Given the description of an element on the screen output the (x, y) to click on. 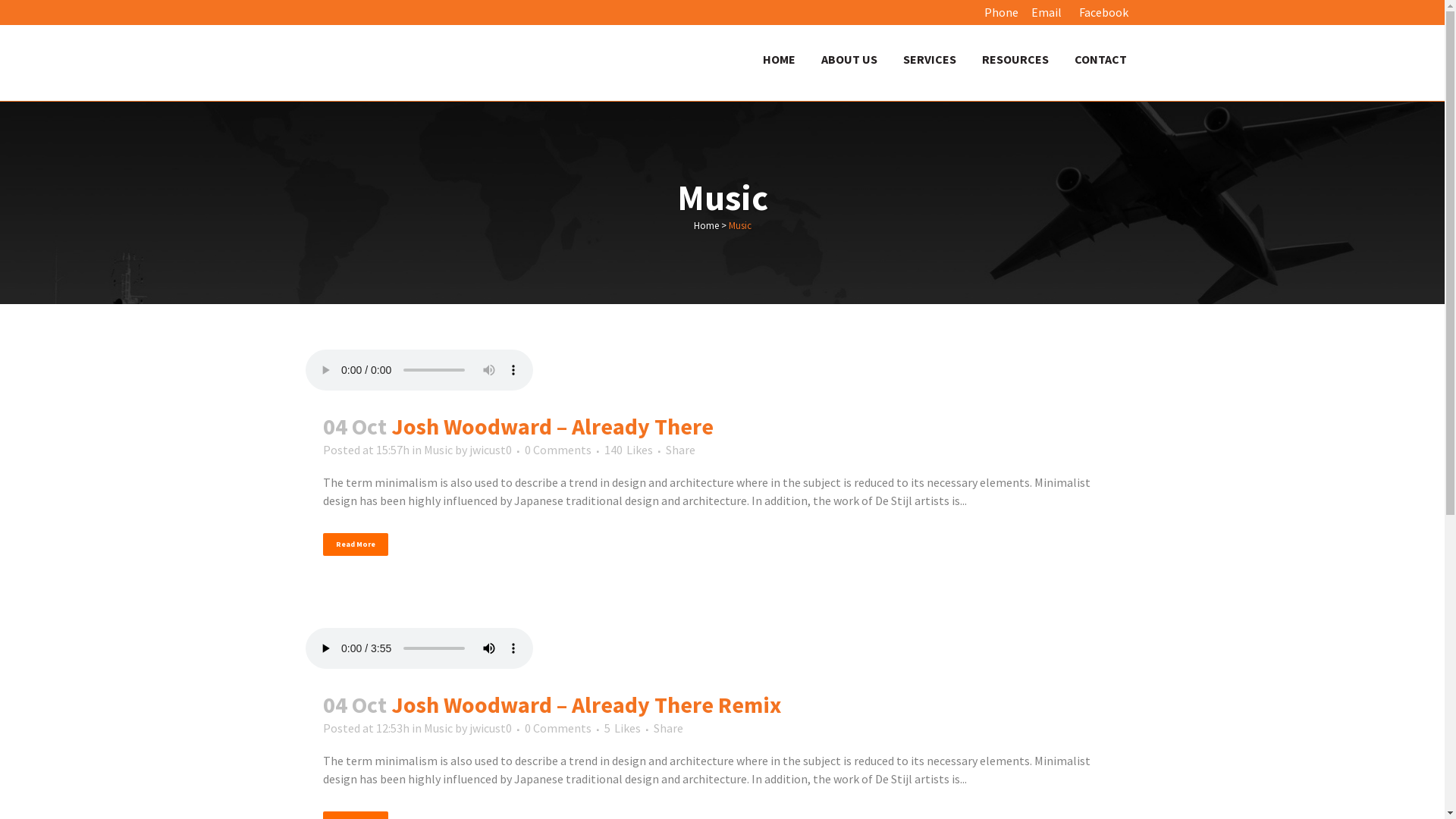
  Facebook Element type: text (1100, 11)
Read More Element type: text (355, 544)
Music Element type: text (437, 449)
ABOUT US Element type: text (849, 59)
SERVICES Element type: text (929, 59)
0 Comments Element type: text (557, 727)
Phone Element type: text (1002, 11)
Share Element type: text (680, 449)
Email Element type: text (1047, 11)
0 Comments Element type: text (557, 449)
Share Element type: text (668, 727)
jwicust0 Element type: text (489, 449)
HOME Element type: text (778, 59)
jwicust0 Element type: text (489, 727)
5 Likes Element type: text (621, 727)
Music Element type: text (437, 727)
140 Likes Element type: text (627, 449)
RESOURCES Element type: text (1015, 59)
CONTACT Element type: text (1100, 59)
Home Element type: text (705, 225)
